Given the description of an element on the screen output the (x, y) to click on. 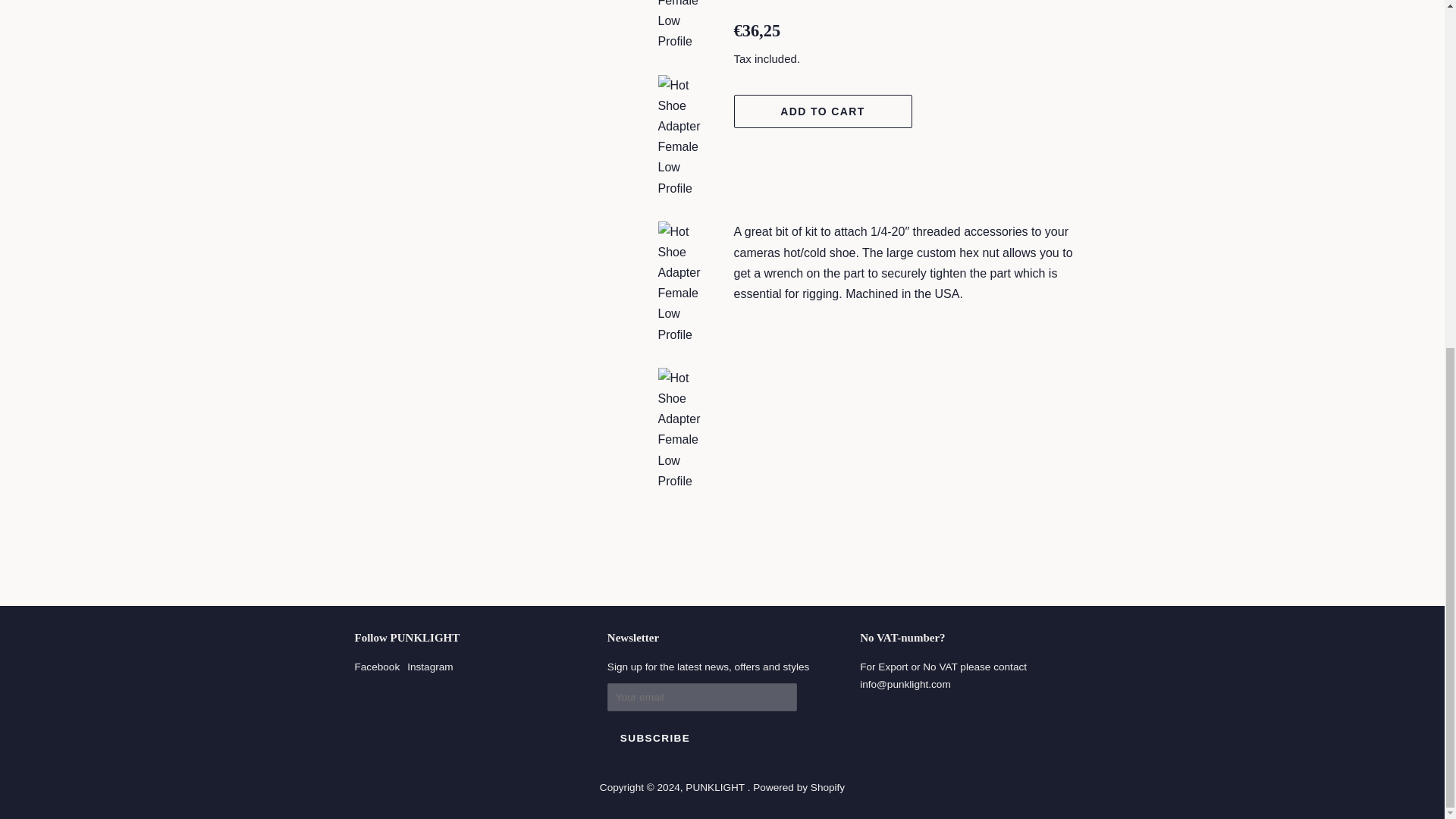
Subscribe (655, 738)
PUNKLIGHT  on Instagram (429, 666)
PUNKLIGHT  on Facebook (377, 666)
